Given the description of an element on the screen output the (x, y) to click on. 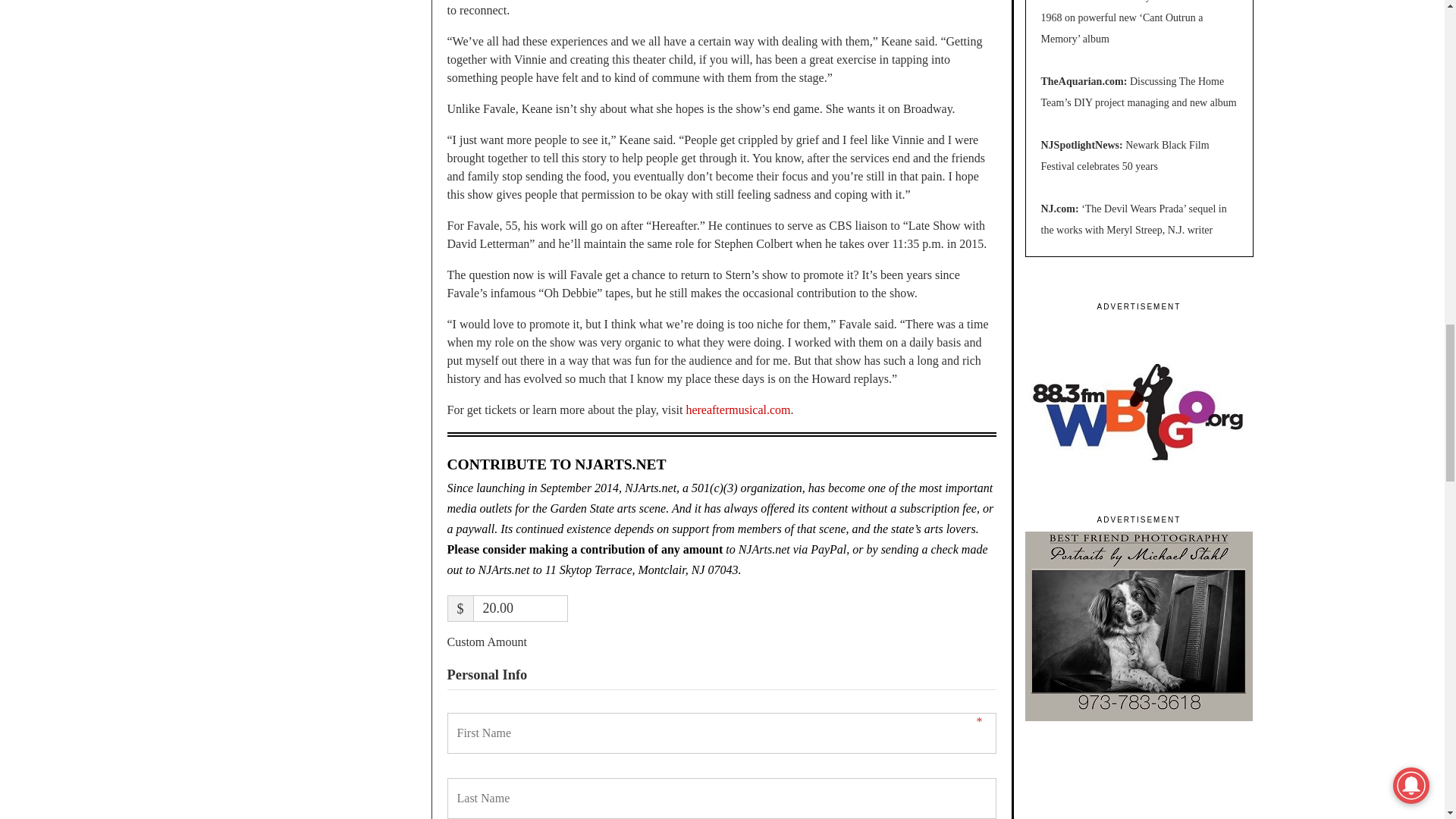
20.00 (520, 608)
stahl-sub (1138, 618)
wbgo (1138, 404)
